Given the description of an element on the screen output the (x, y) to click on. 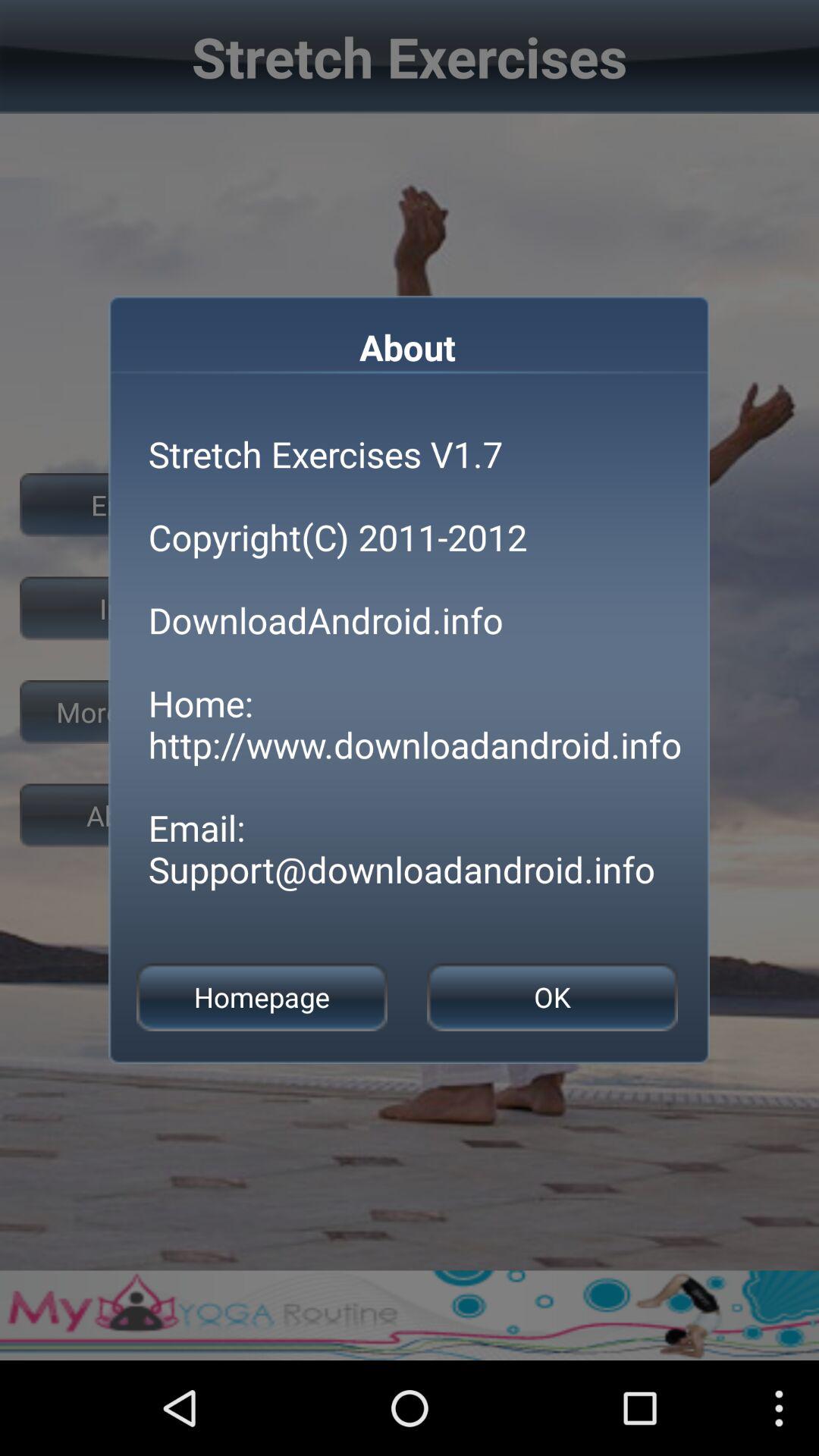
press icon below the stretch exercises v1 icon (552, 997)
